Given the description of an element on the screen output the (x, y) to click on. 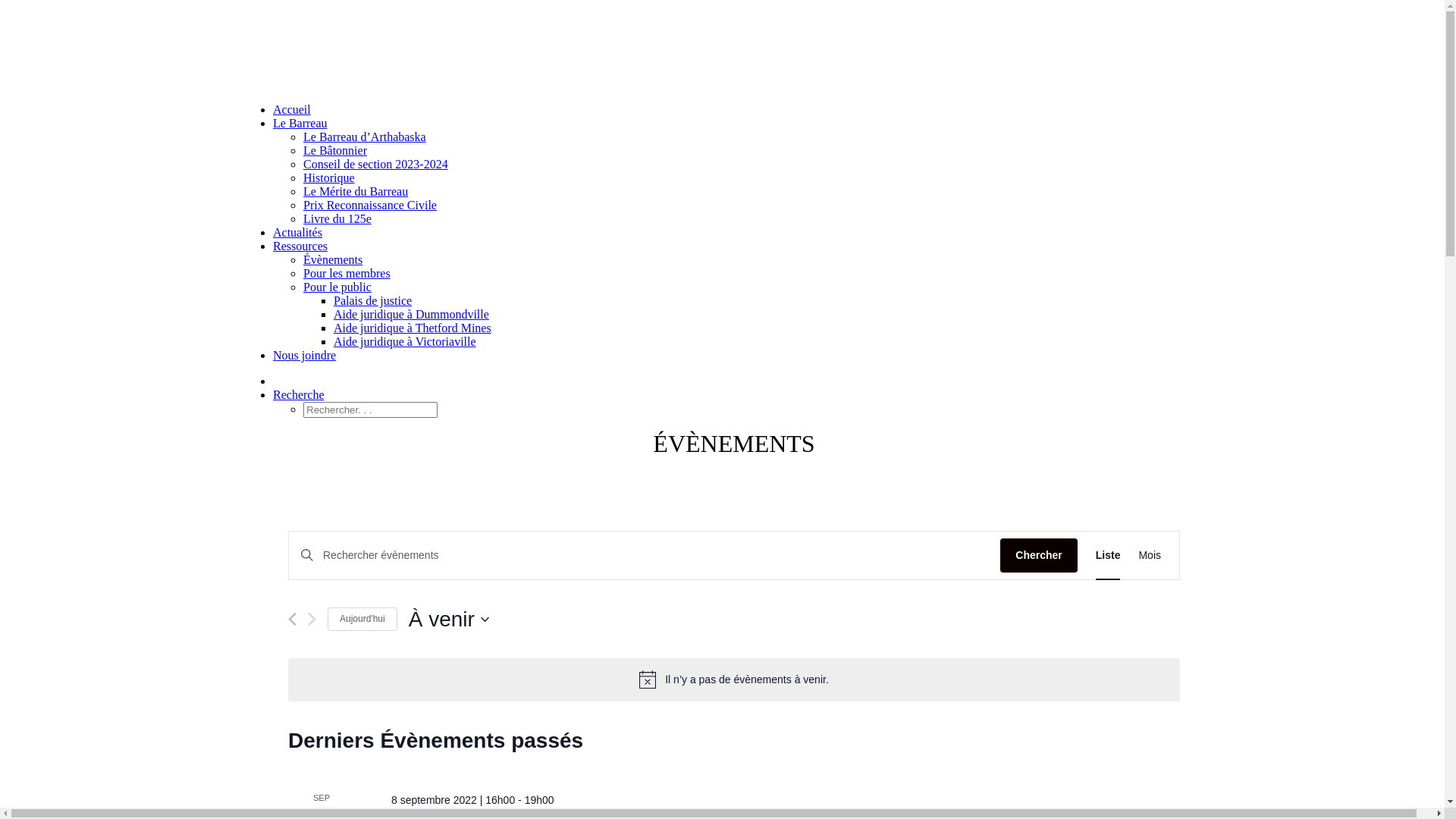
Nous joindre Element type: text (304, 354)
Pour les membres Element type: text (346, 272)
Mois Element type: text (1149, 555)
Recherche Element type: text (298, 394)
Accueil Element type: text (291, 109)
Le Barreau Element type: text (300, 122)
Ressources Element type: text (300, 245)
Historique Element type: text (328, 177)
Conseil de section 2023-2024 Element type: text (375, 163)
Aujourd'hui Element type: text (362, 618)
Livre du 125e Element type: text (337, 218)
Liste Element type: text (1107, 555)
Pour le public Element type: text (337, 286)
Chercher Element type: text (1038, 555)
Rechercher. . . Element type: hover (370, 409)
Prix Reconnaissance Civile Element type: text (369, 204)
Palais de justice Element type: text (372, 300)
